Given the description of an element on the screen output the (x, y) to click on. 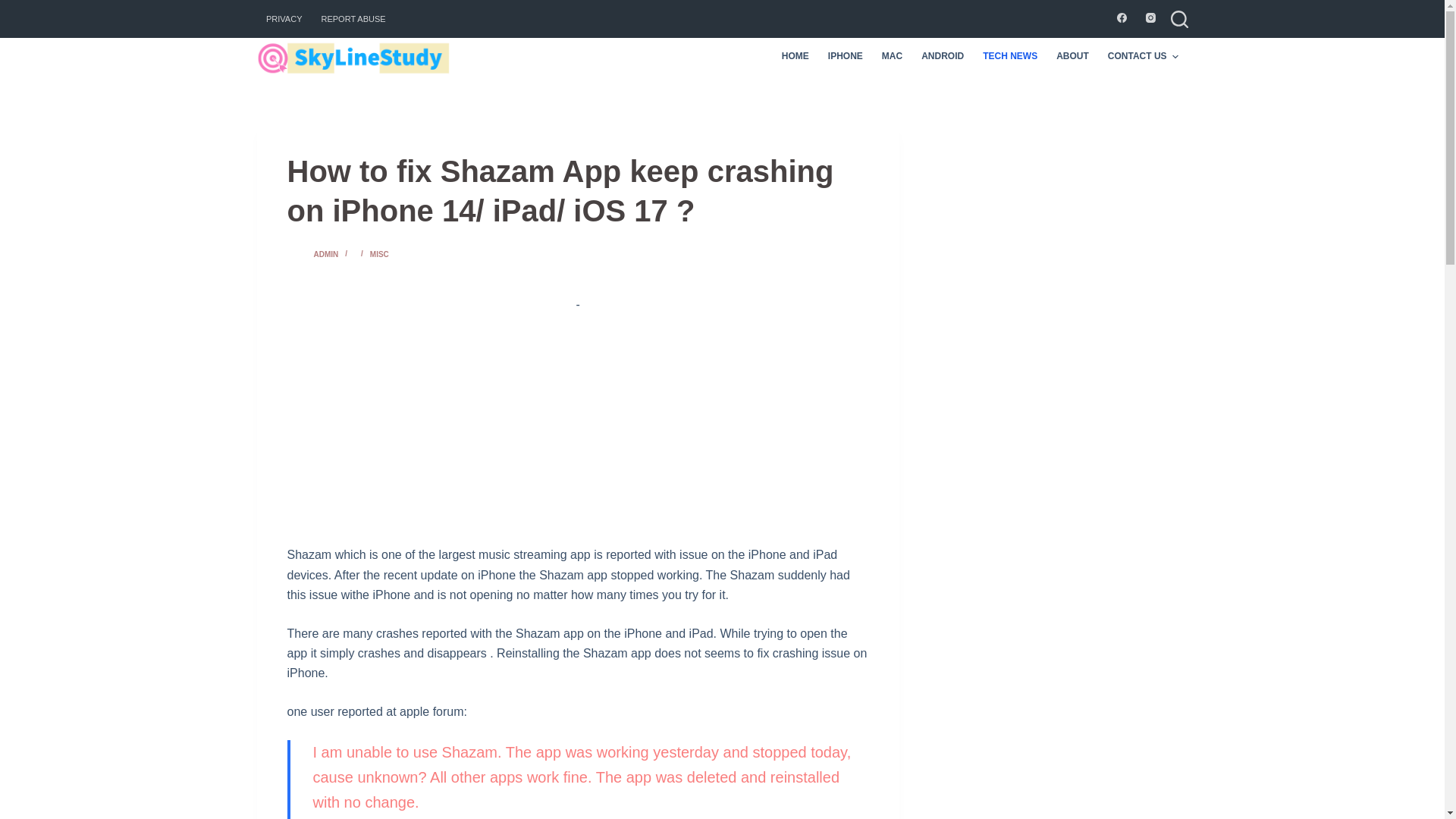
REPORT ABUSE (352, 18)
Skip to content (15, 7)
PRIVACY (283, 18)
HOME (794, 56)
ANDROID (943, 56)
CONTACT US (1142, 56)
ABOUT (1072, 56)
Posts by admin (326, 254)
ADMIN (326, 254)
MAC (891, 56)
MISC (378, 254)
Advertisement (1062, 216)
IPHONE (845, 56)
TECH NEWS (1010, 56)
Advertisement (577, 420)
